Given the description of an element on the screen output the (x, y) to click on. 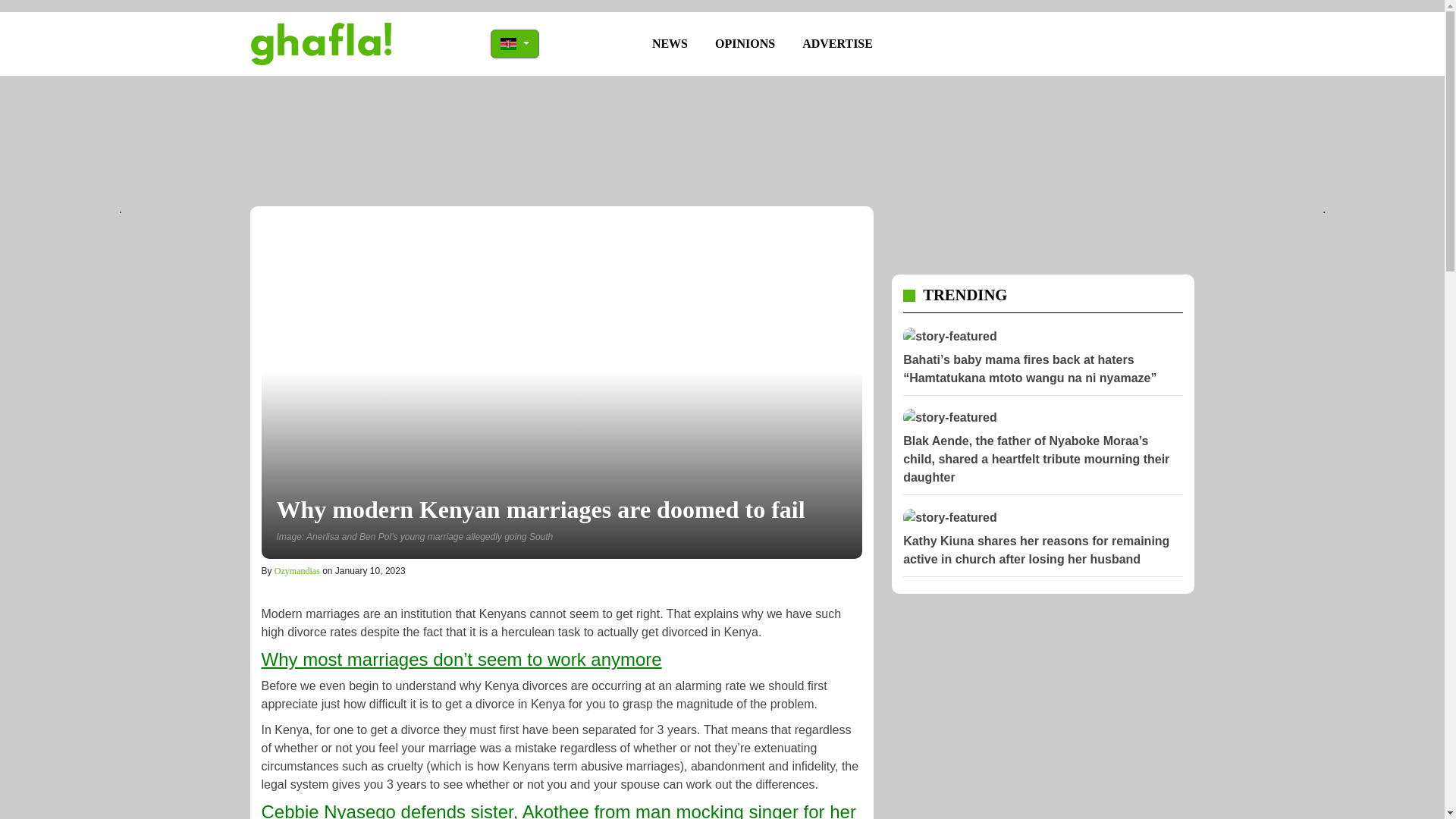
Ozymandias (297, 570)
ADVERTISE (837, 43)
OPINIONS (744, 43)
NEWS (670, 43)
